Given the description of an element on the screen output the (x, y) to click on. 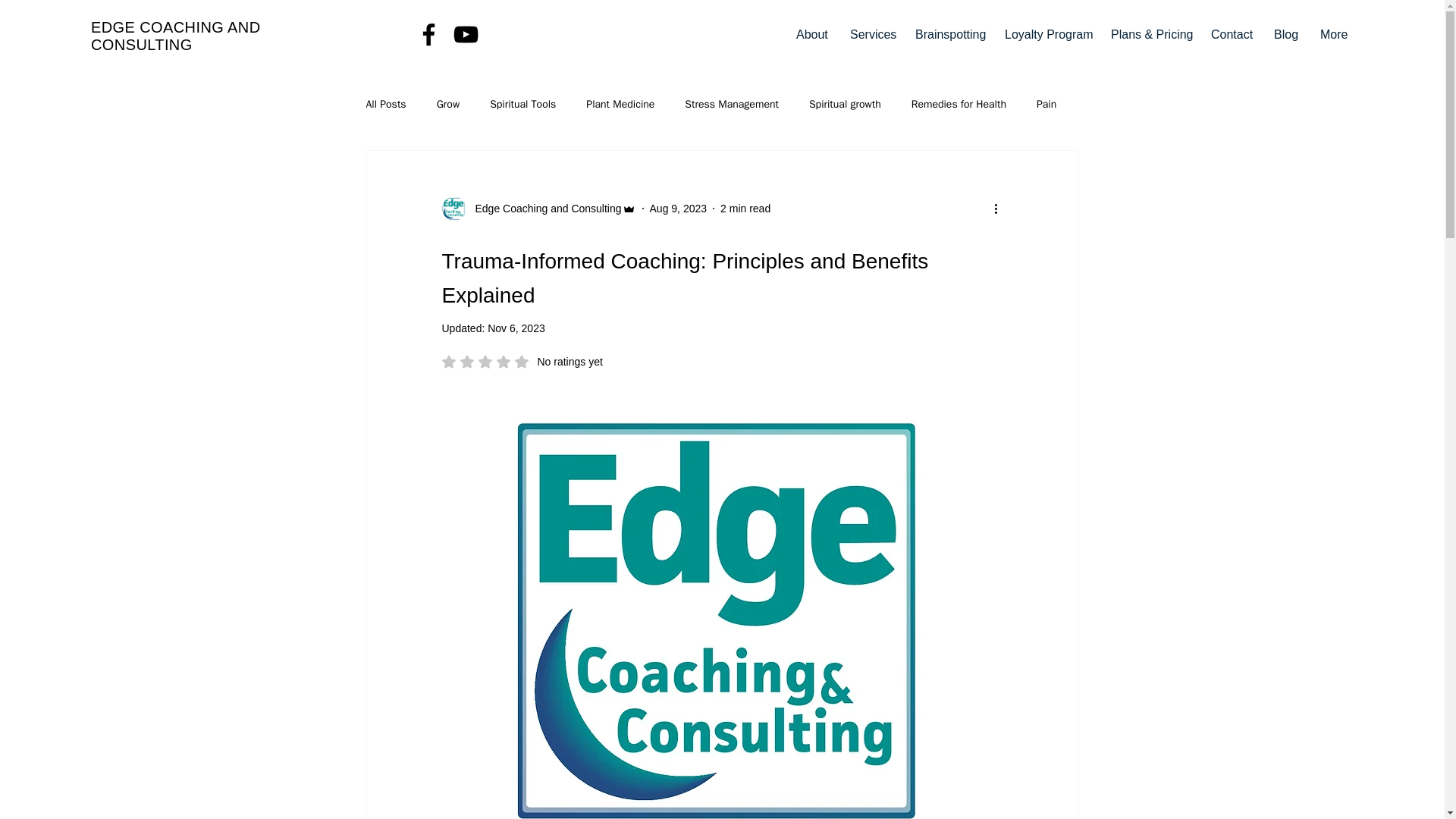
Loyalty Program (521, 361)
EDGE COACHING AND CONSULTING (1045, 34)
Remedies for Health (175, 35)
Contact (958, 104)
Nov 6, 2023 (1230, 34)
All Posts (515, 328)
2 min read (385, 104)
About (745, 207)
Plant Medicine (811, 34)
